Given the description of an element on the screen output the (x, y) to click on. 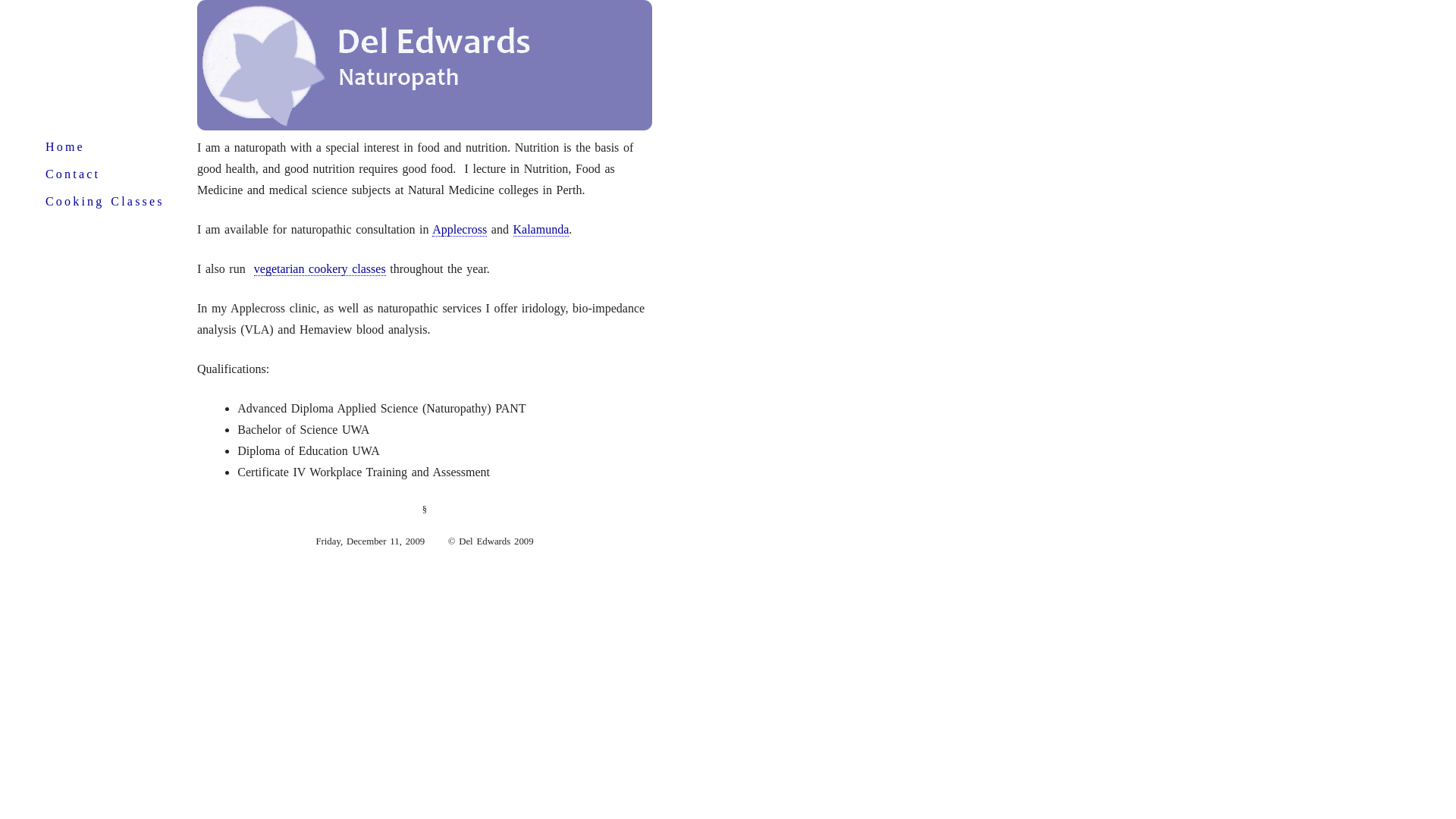
vegetarian cookery classes Element type: text (319, 269)
Kalamunda Element type: text (541, 229)
Applecross Element type: text (459, 229)
Home Element type: text (64, 146)
Contact Element type: text (72, 173)
Cooking Classes Element type: text (104, 200)
